Given the description of an element on the screen output the (x, y) to click on. 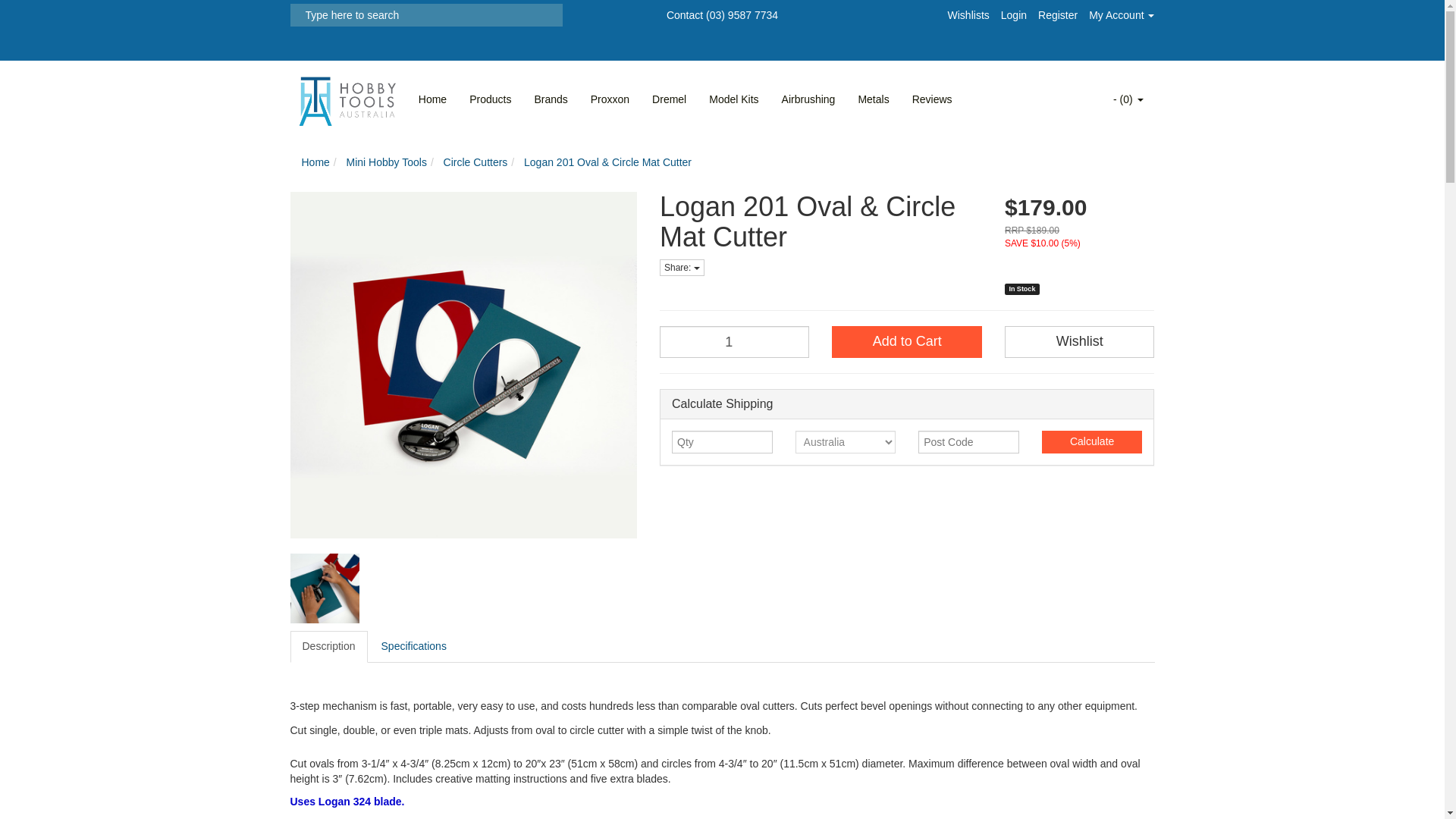
Add to Cart (906, 341)
Login (1013, 15)
Model Kits (733, 99)
Register (1057, 15)
PayPal Message 1 (1079, 263)
Calculate (1092, 441)
Login (1013, 15)
Mini Hobby Tools (386, 162)
Share: (681, 267)
Wishlists (968, 15)
Airbrushing (808, 99)
Search (294, 14)
Register (1057, 15)
My Account (1121, 15)
Circle Cutters (476, 162)
